Given the description of an element on the screen output the (x, y) to click on. 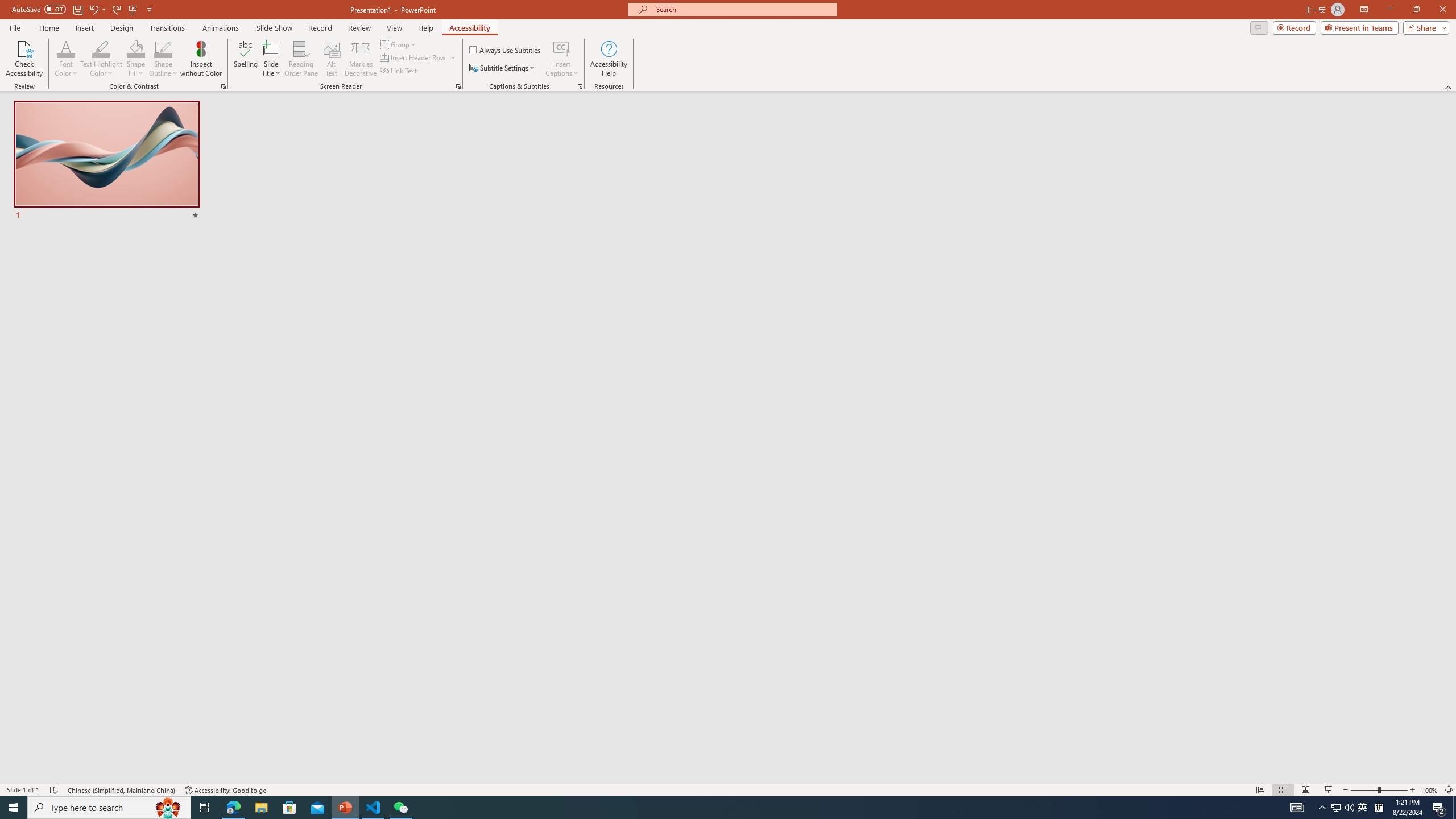
Link Text (399, 69)
Shape Outline Blue, Accent 1 (163, 48)
Shape Fill Orange, Accent 2 (135, 48)
Insert Header Row (418, 56)
